Given the description of an element on the screen output the (x, y) to click on. 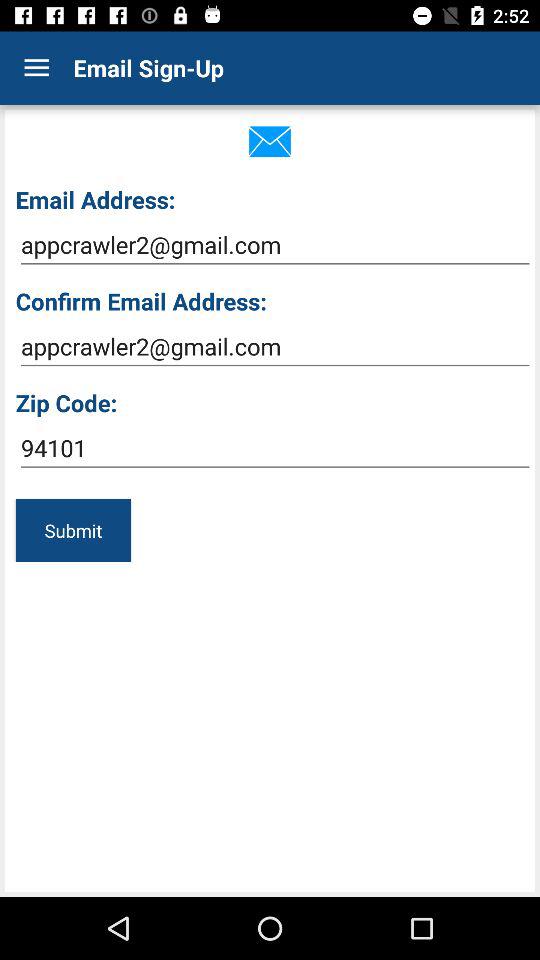
scroll until the 94101 icon (274, 448)
